Given the description of an element on the screen output the (x, y) to click on. 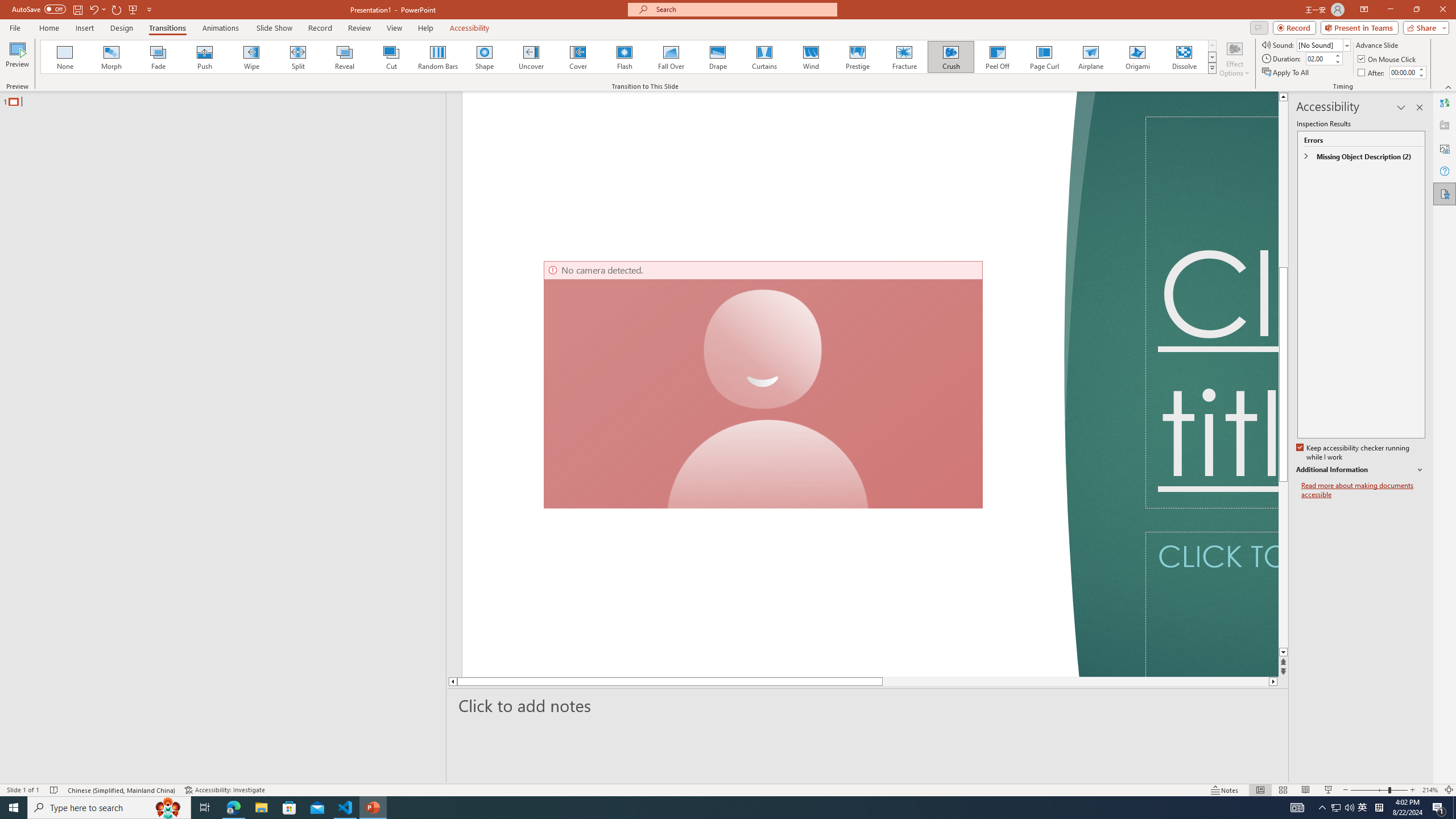
Uncover (531, 56)
Push (205, 56)
Page Curl (1043, 56)
Drape (717, 56)
Apply To All (1286, 72)
